Given the description of an element on the screen output the (x, y) to click on. 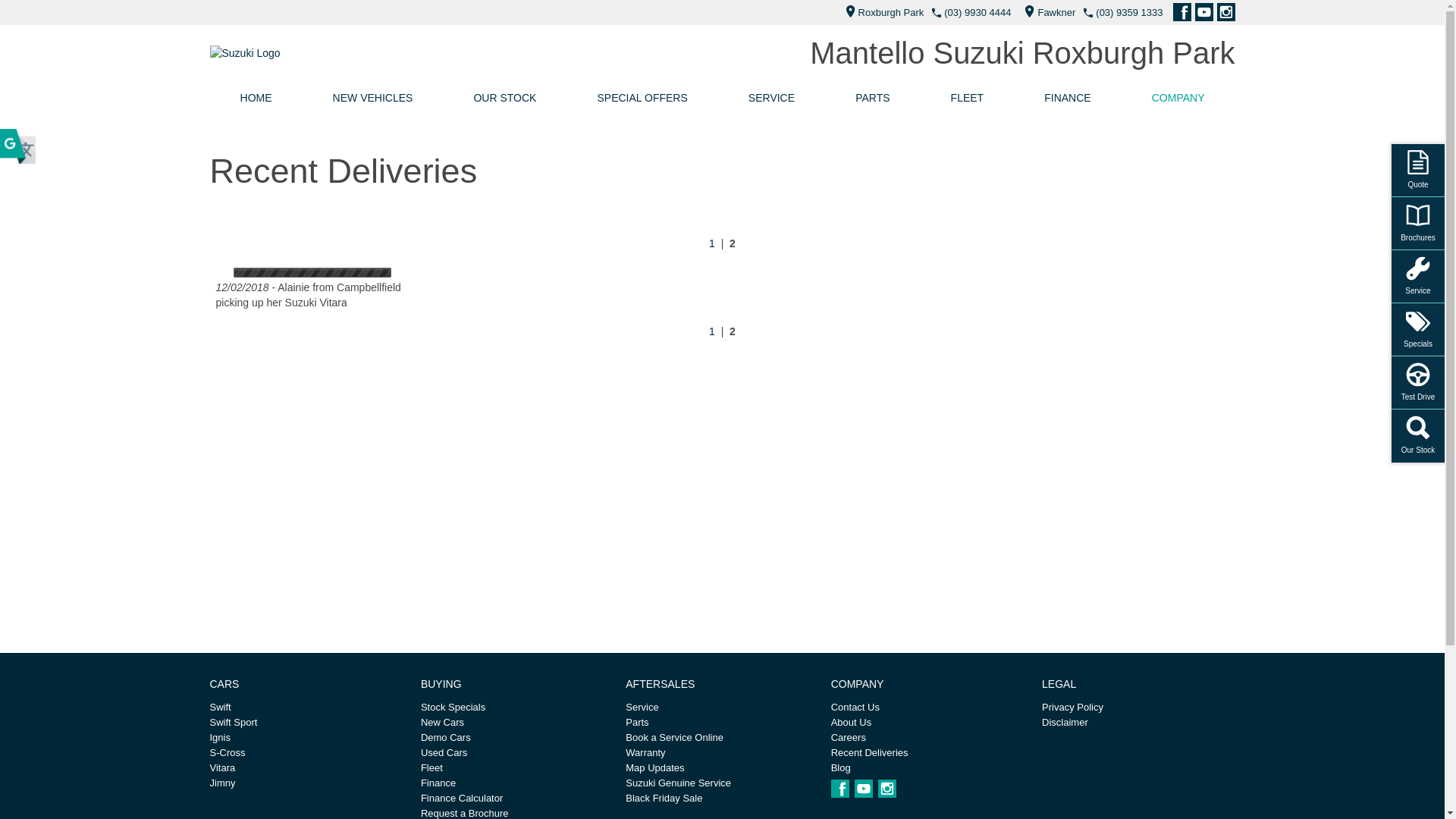
Fleet Element type: text (516, 767)
Stock Specials Element type: text (516, 707)
(03) 9359 1333 Element type: text (1128, 12)
Facebook Element type: text (1181, 12)
Roxburgh Park Element type: text (880, 12)
Suzuki Genuine Service Element type: text (721, 782)
Careers Element type: text (927, 737)
Privacy Policy Element type: text (1137, 707)
Disclaimer Element type: text (1137, 722)
OUR STOCK Element type: text (504, 97)
Demo Cars Element type: text (516, 737)
New Cars Element type: text (516, 722)
Mantello Suzuki Roxburgh Park Element type: text (1021, 52)
About Us Element type: text (927, 722)
(03) 9930 4444 Element type: text (977, 12)
SERVICE Element type: text (771, 97)
Facebook Element type: text (840, 788)
Contact Us Element type: text (927, 707)
SPECIAL OFFERS Element type: text (641, 97)
Swift Element type: text (305, 707)
Instagram Element type: text (887, 788)
Warranty Element type: text (721, 752)
S-Cross Element type: text (305, 752)
Instagram Element type: text (1225, 12)
1 Element type: text (712, 330)
Finance Calculator Element type: text (516, 798)
PARTS Element type: text (872, 97)
HOME Element type: text (255, 97)
Service Element type: text (721, 707)
YouTube Element type: text (1204, 12)
FLEET Element type: text (967, 97)
Recent Deliveries Element type: text (927, 752)
Fawkner Element type: text (1045, 12)
Used Cars Element type: text (516, 752)
Finance Element type: text (516, 782)
Book a Service Online Element type: text (721, 737)
Ignis Element type: text (305, 737)
YouTube Element type: text (863, 788)
FINANCE Element type: text (1067, 97)
Map Updates Element type: text (721, 767)
NEW VEHICLES Element type: text (372, 97)
Swift Sport Element type: text (305, 722)
Black Friday Sale Element type: text (721, 798)
1 Element type: text (712, 242)
Jimny Element type: text (305, 782)
Parts Element type: text (721, 722)
COMPANY Element type: text (1178, 97)
Blog Element type: text (927, 767)
Vitara Element type: text (305, 767)
